Given the description of an element on the screen output the (x, y) to click on. 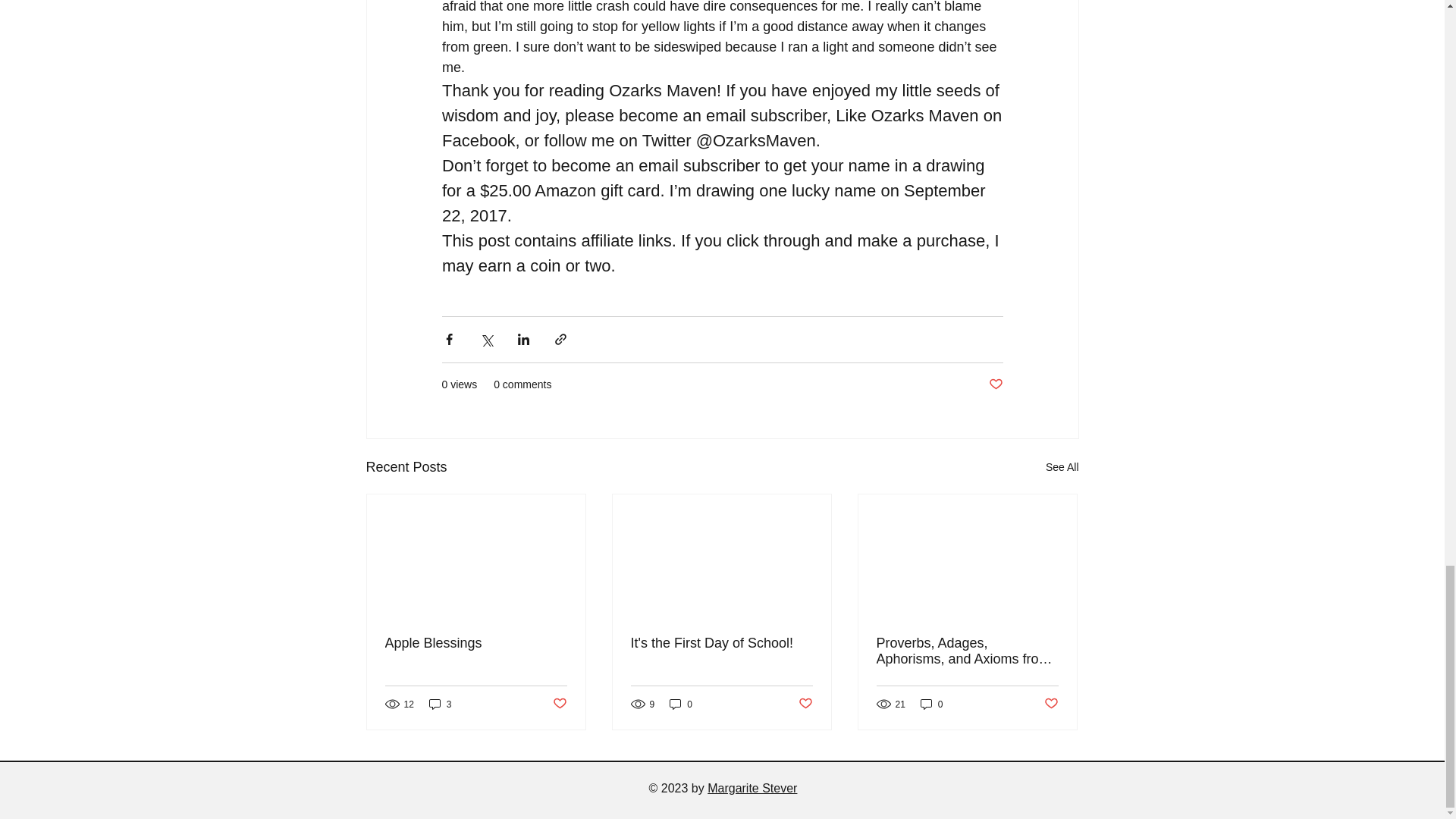
It's the First Day of School! (721, 643)
See All (1061, 467)
Post not marked as liked (558, 703)
Post not marked as liked (804, 703)
Apple Blessings (476, 643)
Post not marked as liked (995, 384)
0 (681, 703)
0 (931, 703)
3 (440, 703)
Post not marked as liked (1050, 703)
